Given the description of an element on the screen output the (x, y) to click on. 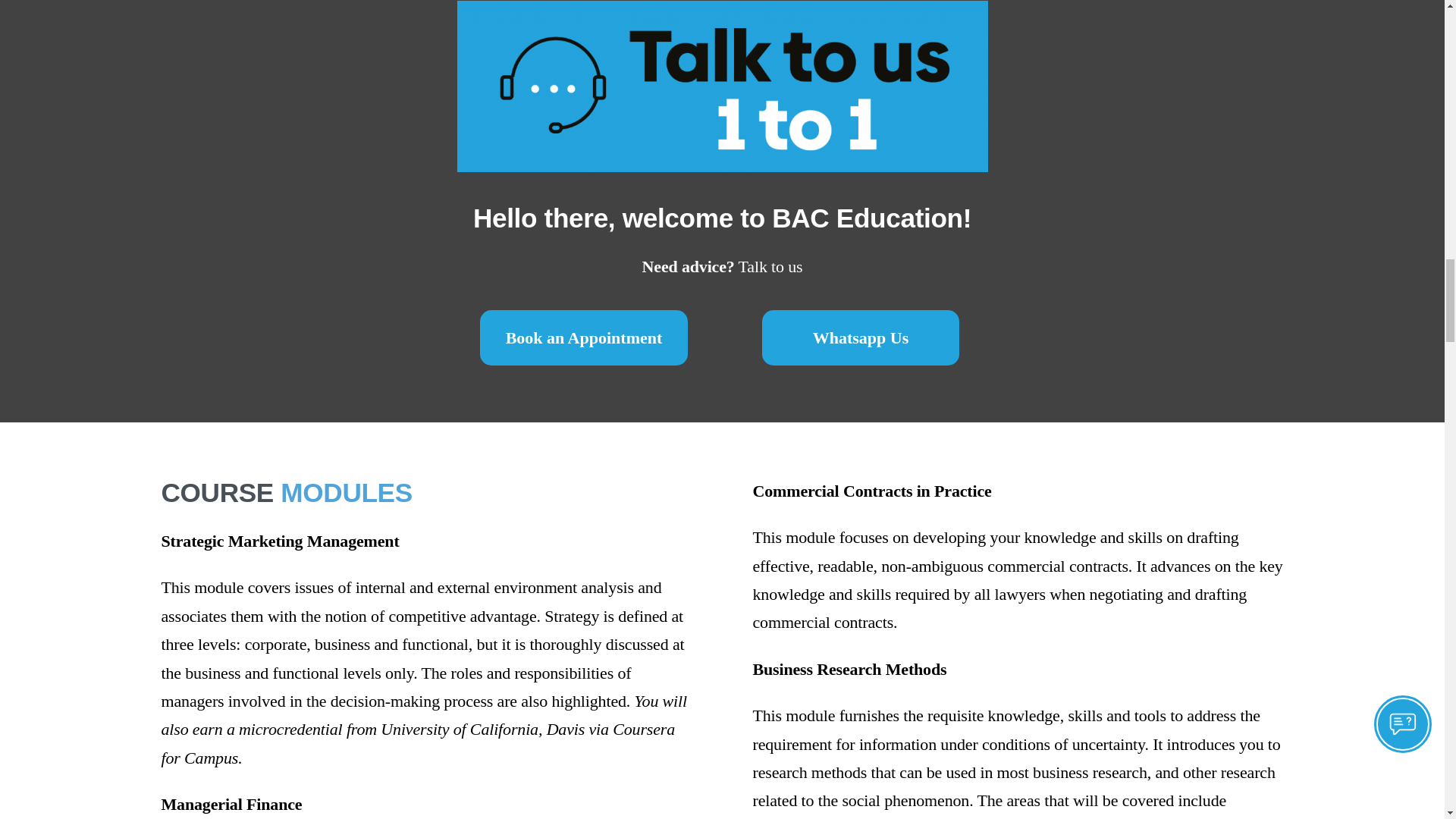
Book an Appointment (583, 337)
Whatsapp Us (860, 337)
